Given the description of an element on the screen output the (x, y) to click on. 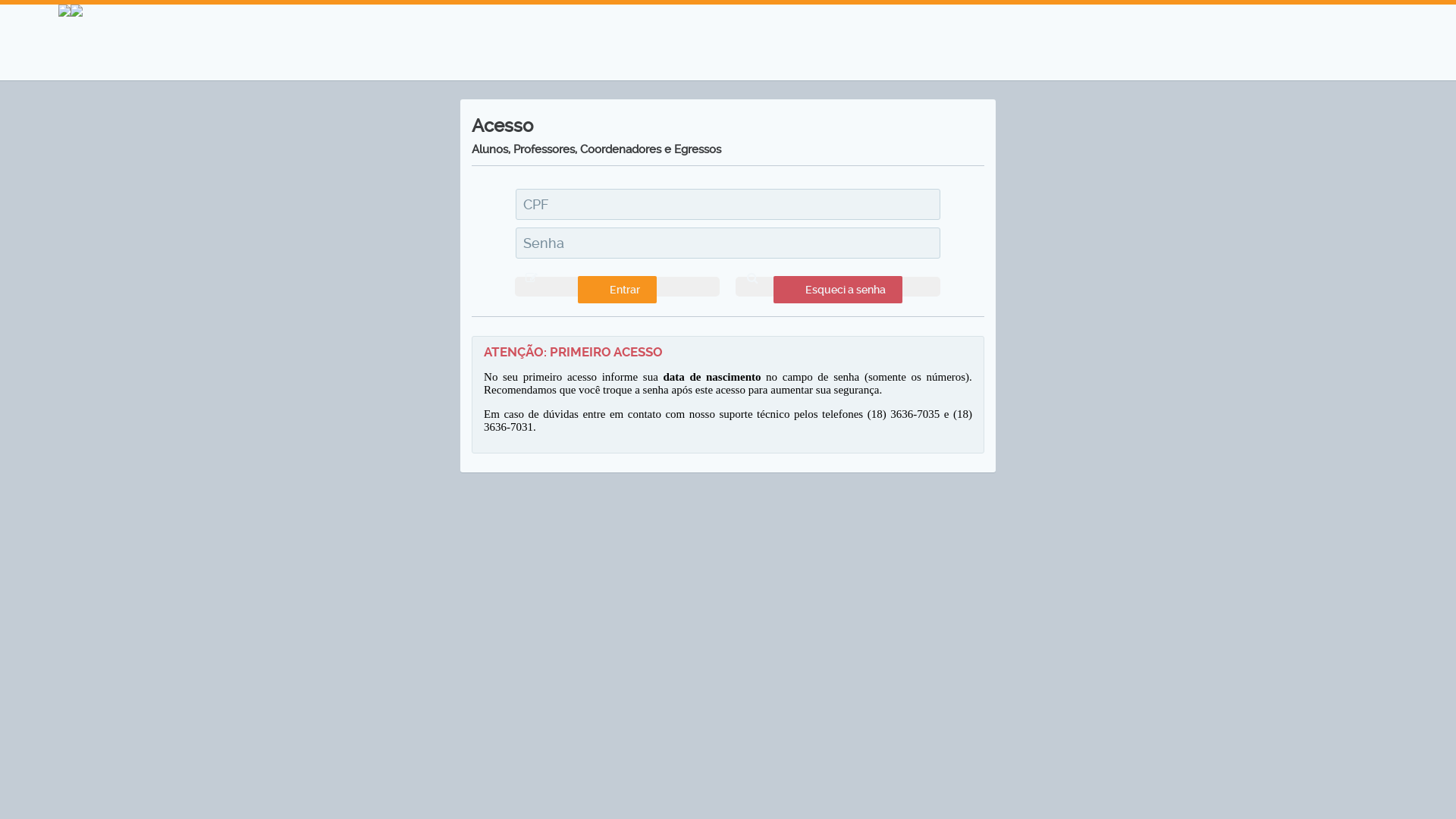
Esqueci a senha Element type: text (837, 286)
Entrar Element type: text (616, 286)
